Given the description of an element on the screen output the (x, y) to click on. 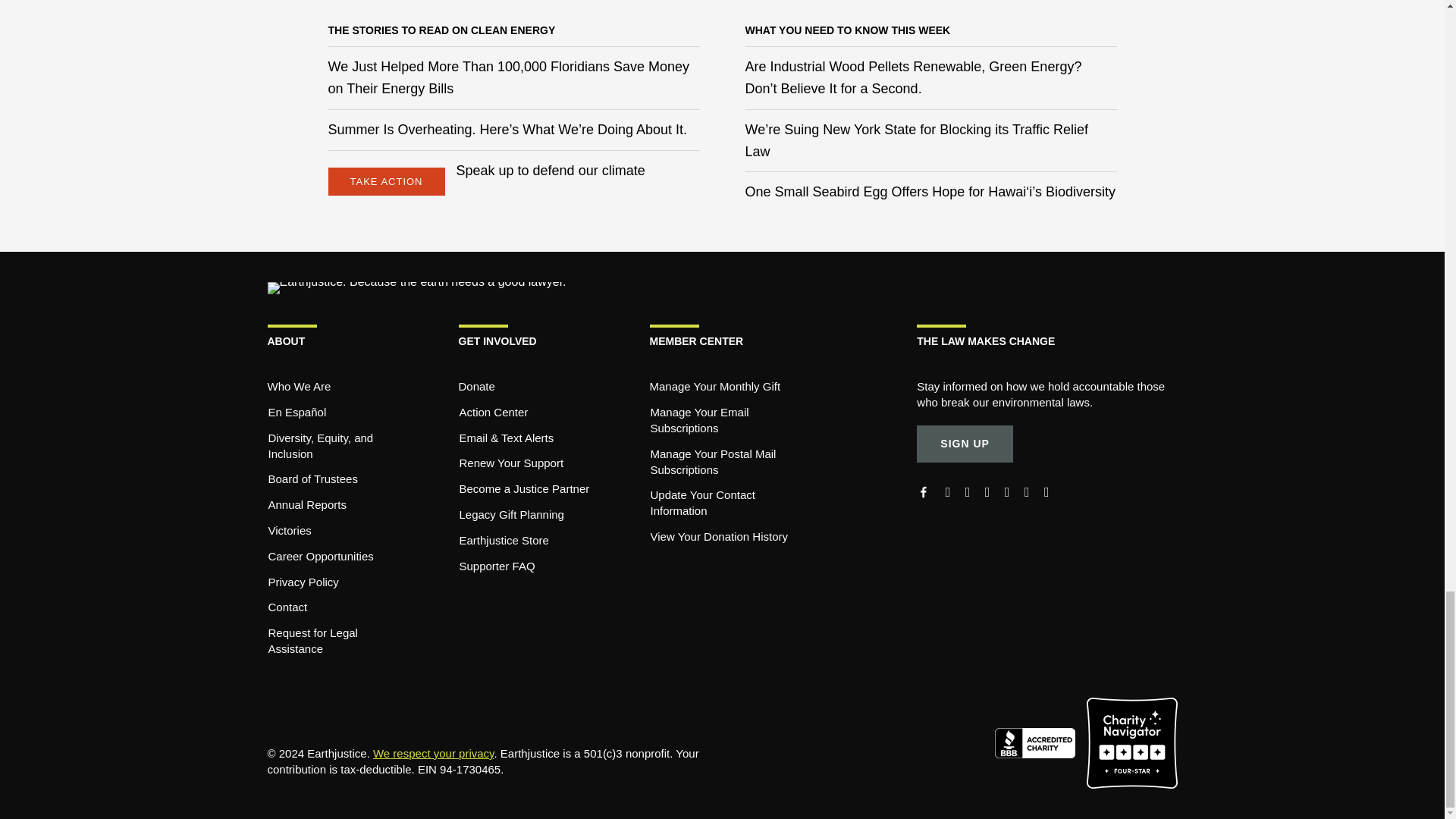
Charity Navigator: Four-Star Charity (1131, 741)
BBB Accredited (1040, 741)
Speak up to defend our climate (551, 170)
